Given the description of an element on the screen output the (x, y) to click on. 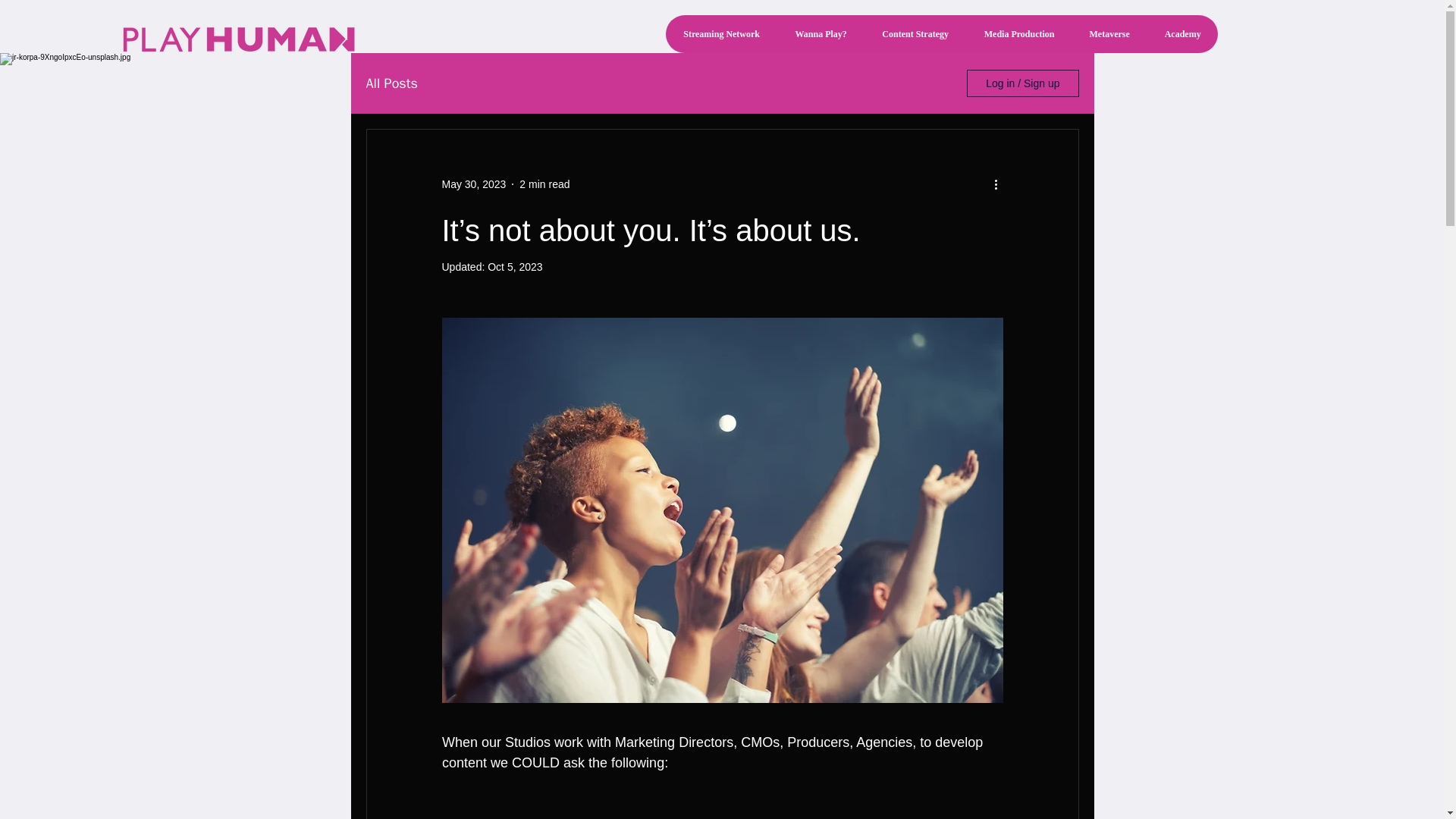
Streaming Network (721, 34)
Metaverse (1109, 34)
PlayHuman - Text Logo - png white.png (238, 38)
Wanna Play? (820, 34)
All Posts (390, 83)
Oct 5, 2023 (514, 266)
Content Strategy (914, 34)
Media Production (1018, 34)
Academy (1182, 34)
2 min read (544, 183)
May 30, 2023 (473, 183)
